Given the description of an element on the screen output the (x, y) to click on. 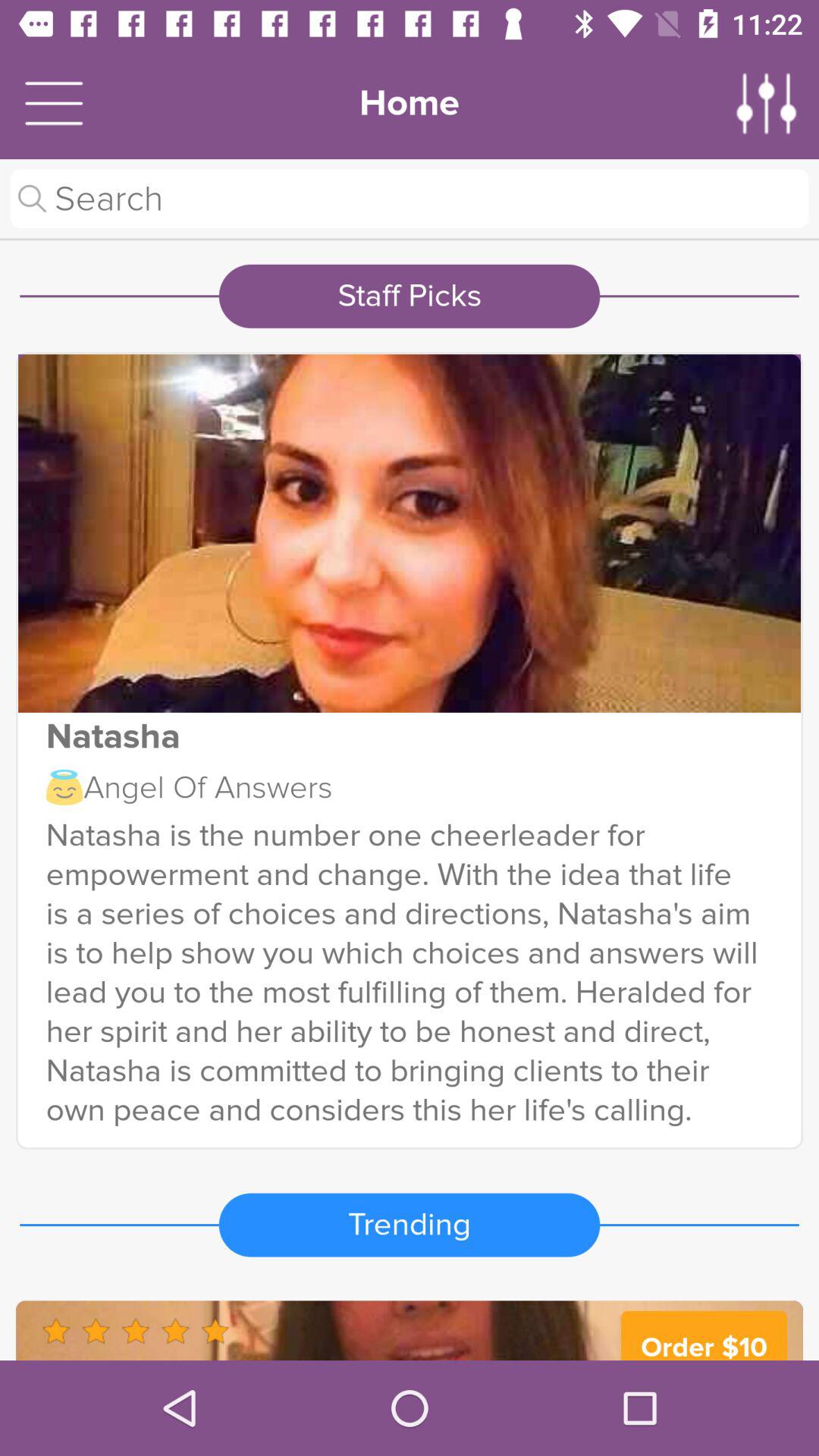
image link (409, 533)
